Given the description of an element on the screen output the (x, y) to click on. 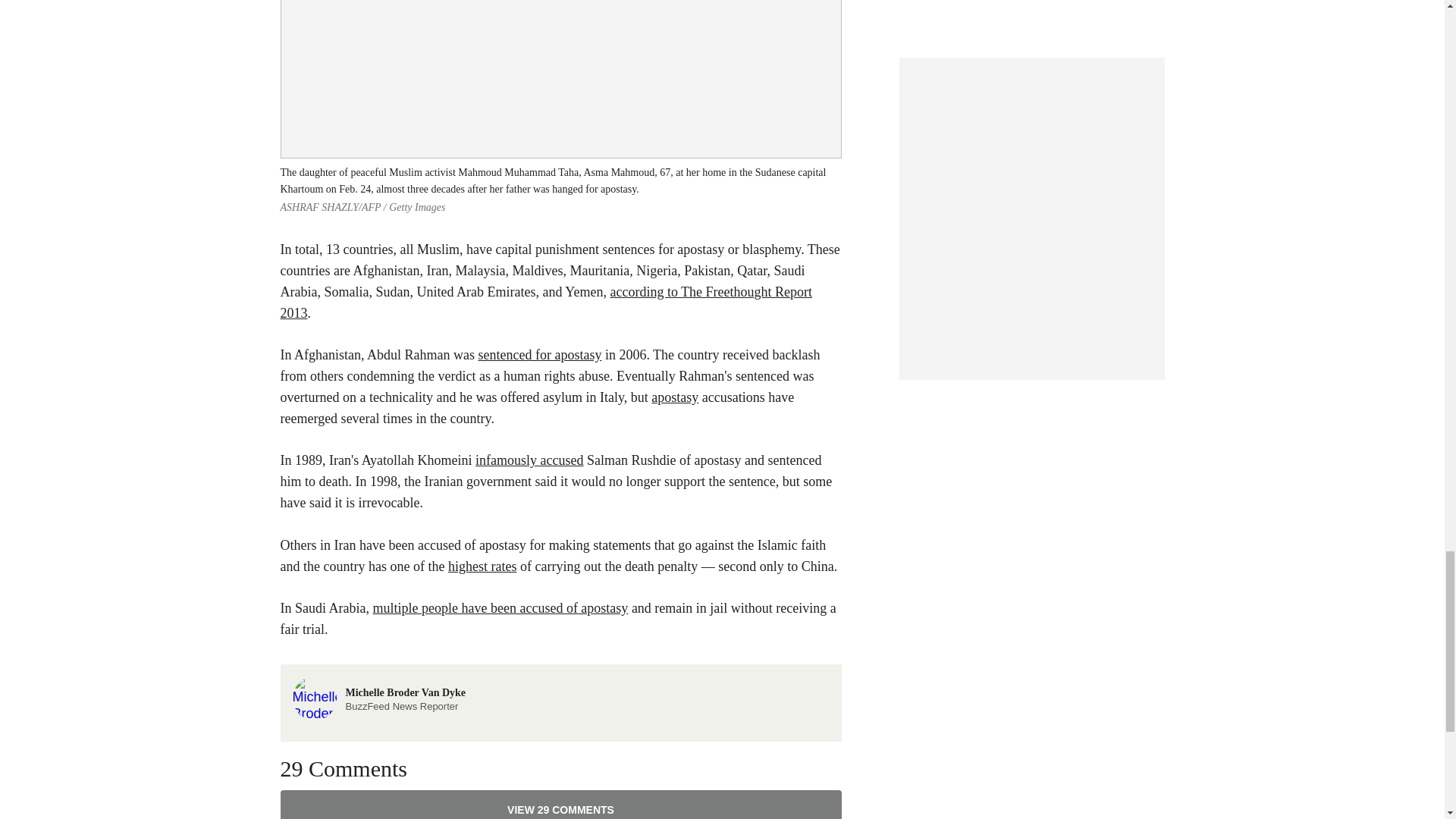
infamously accused (529, 459)
highest rates (482, 565)
VIEW 29 COMMENTS (561, 804)
multiple people have been accused of apostasy (378, 696)
according to The Freethought Report 2013 (499, 607)
apostasy (546, 302)
sentenced for apostasy (674, 396)
